Given the description of an element on the screen output the (x, y) to click on. 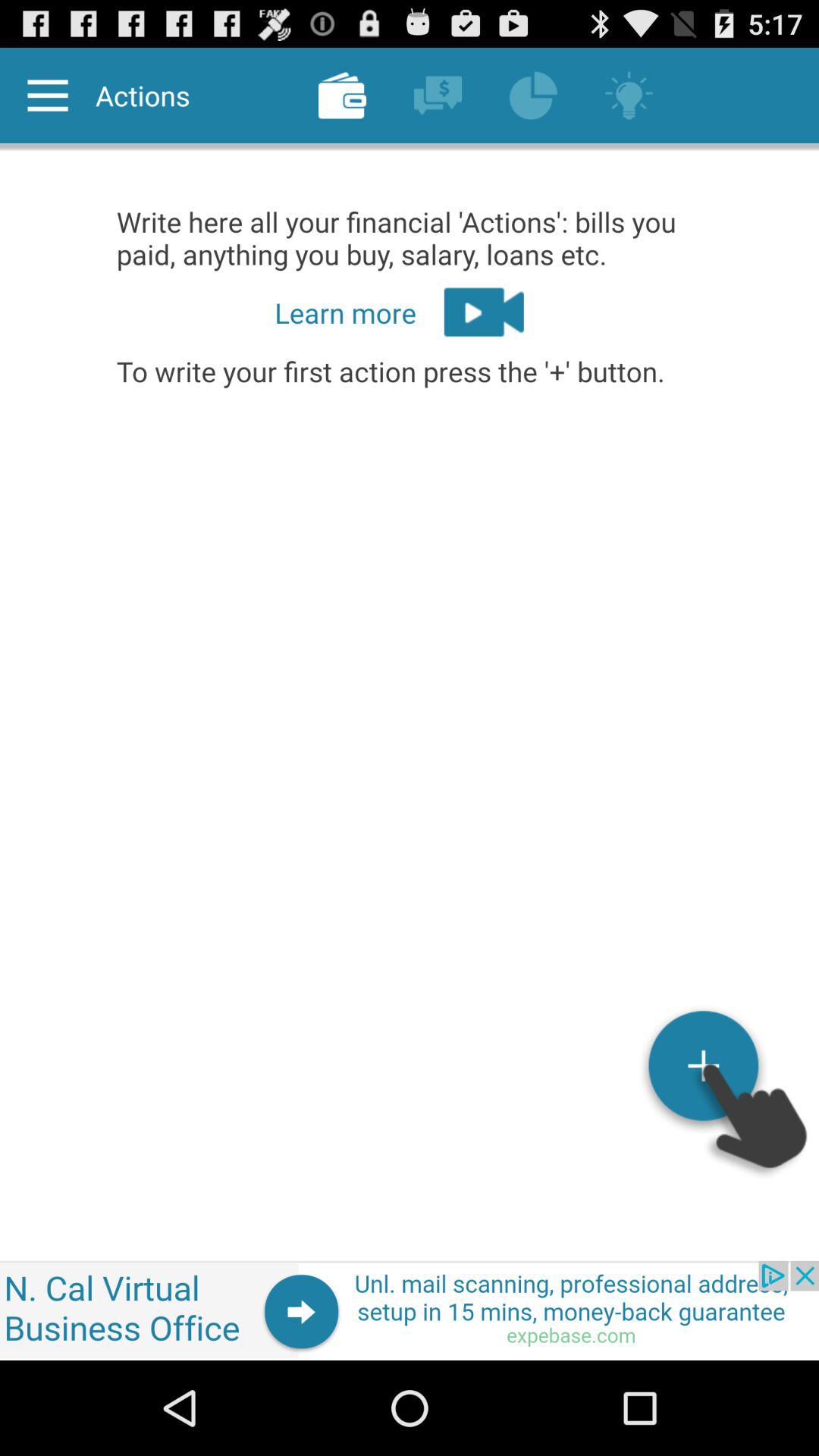
click the button on the top left corner of the web page (48, 95)
